Given the description of an element on the screen output the (x, y) to click on. 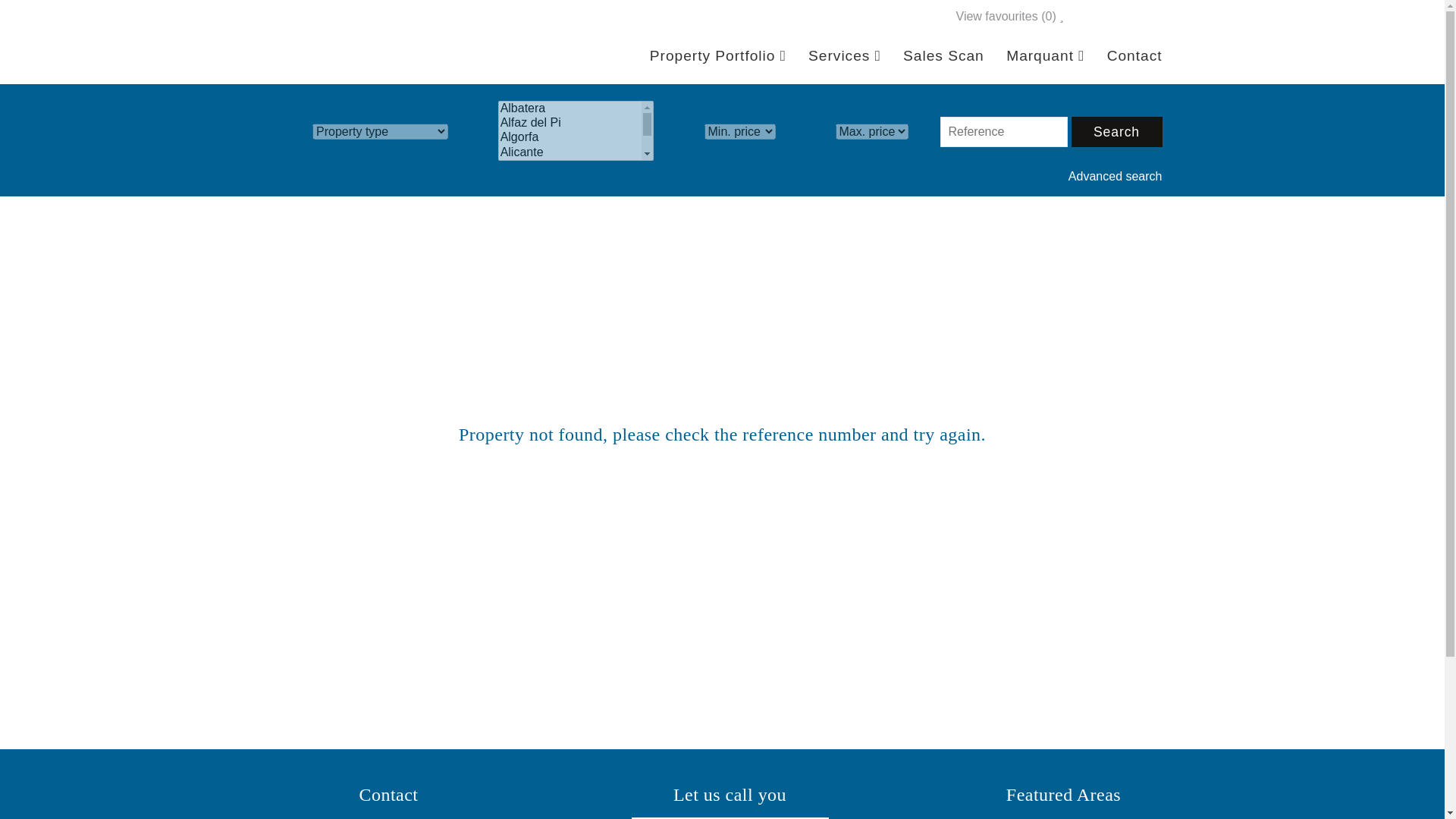
Max. price (871, 131)
Services (834, 55)
Min. price (738, 131)
Search (1115, 132)
Services (834, 55)
Sales Scan (933, 55)
Contact (1124, 55)
english (1093, 16)
Property Portfolio (708, 55)
Property Portfolio (708, 55)
